Given the description of an element on the screen output the (x, y) to click on. 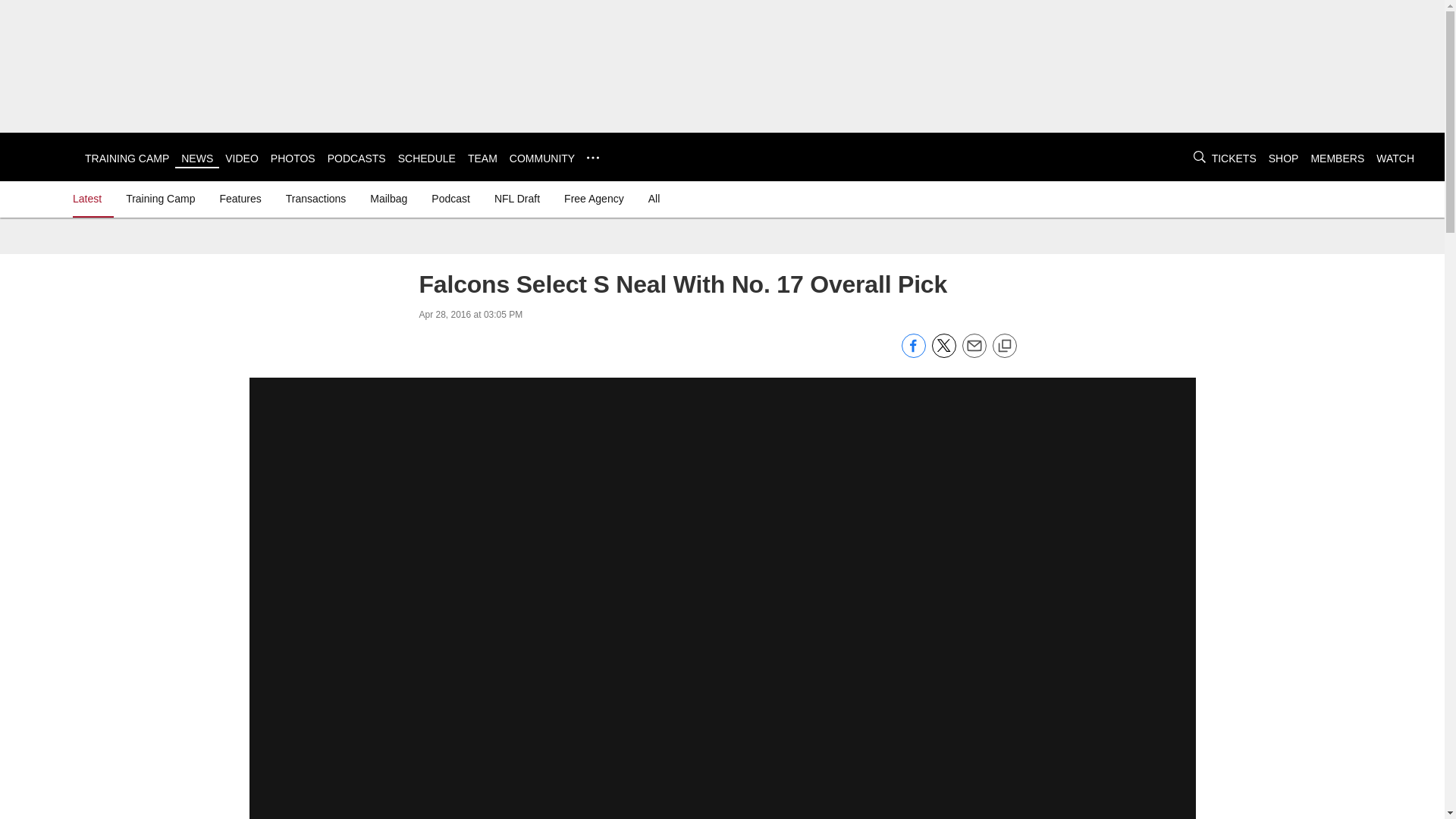
Training Camp (159, 198)
PODCASTS (356, 158)
WATCH (1394, 158)
PHOTOS (292, 158)
Features (239, 198)
SCHEDULE (426, 158)
PHOTOS (292, 158)
VIDEO (242, 158)
COMMUNITY (542, 158)
Free Agency (593, 198)
